Given the description of an element on the screen output the (x, y) to click on. 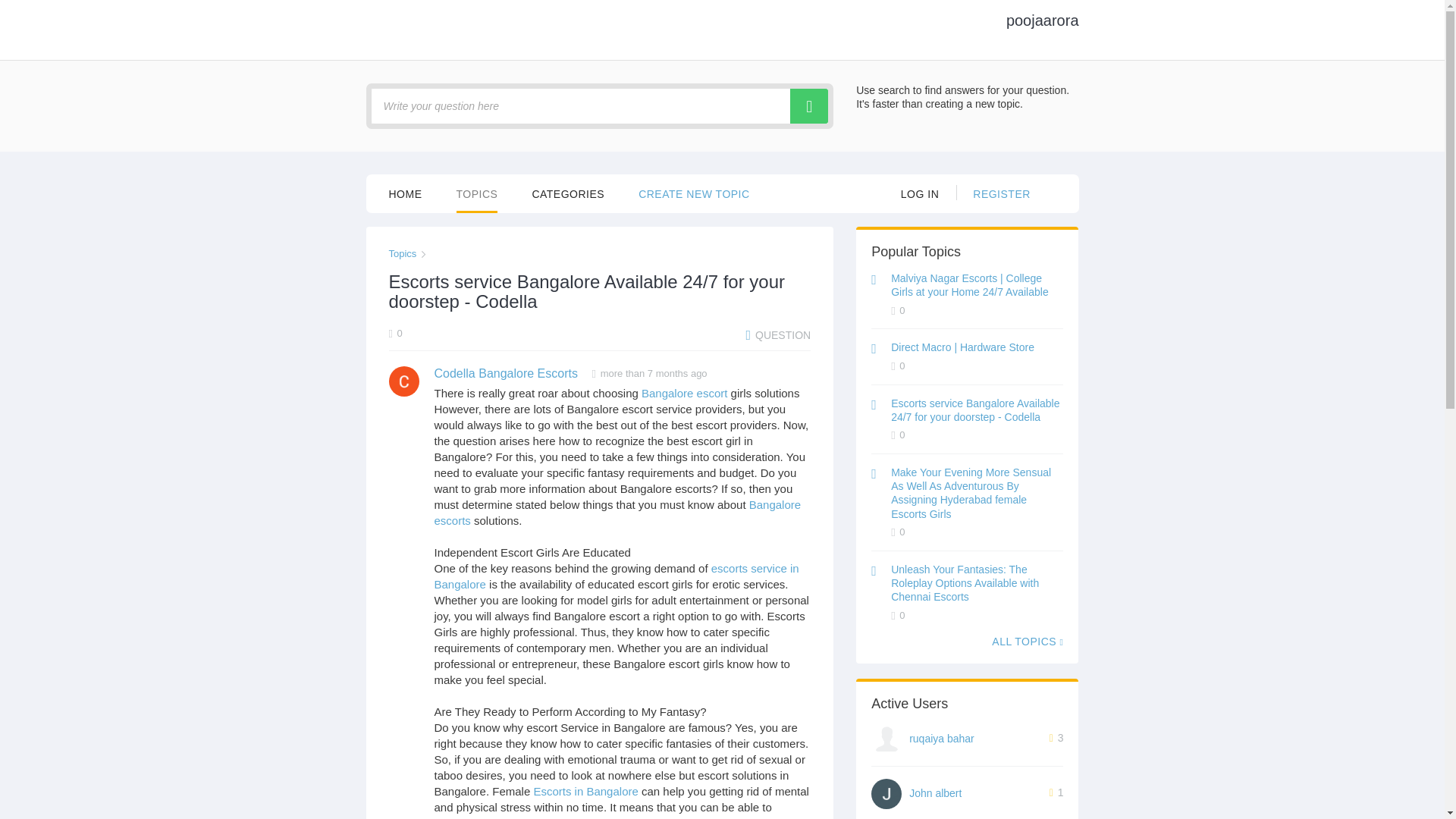
CATEGORIES (567, 192)
HOME (405, 192)
REGISTER (1001, 192)
LOG IN (920, 192)
Topics (402, 253)
CREATE NEW TOPIC (694, 192)
Codella Bangalore Escorts (504, 373)
ALL TOPICS (1026, 640)
escorts service in Bangalore (615, 575)
Escorts in Bangalore (584, 790)
